Given the description of an element on the screen output the (x, y) to click on. 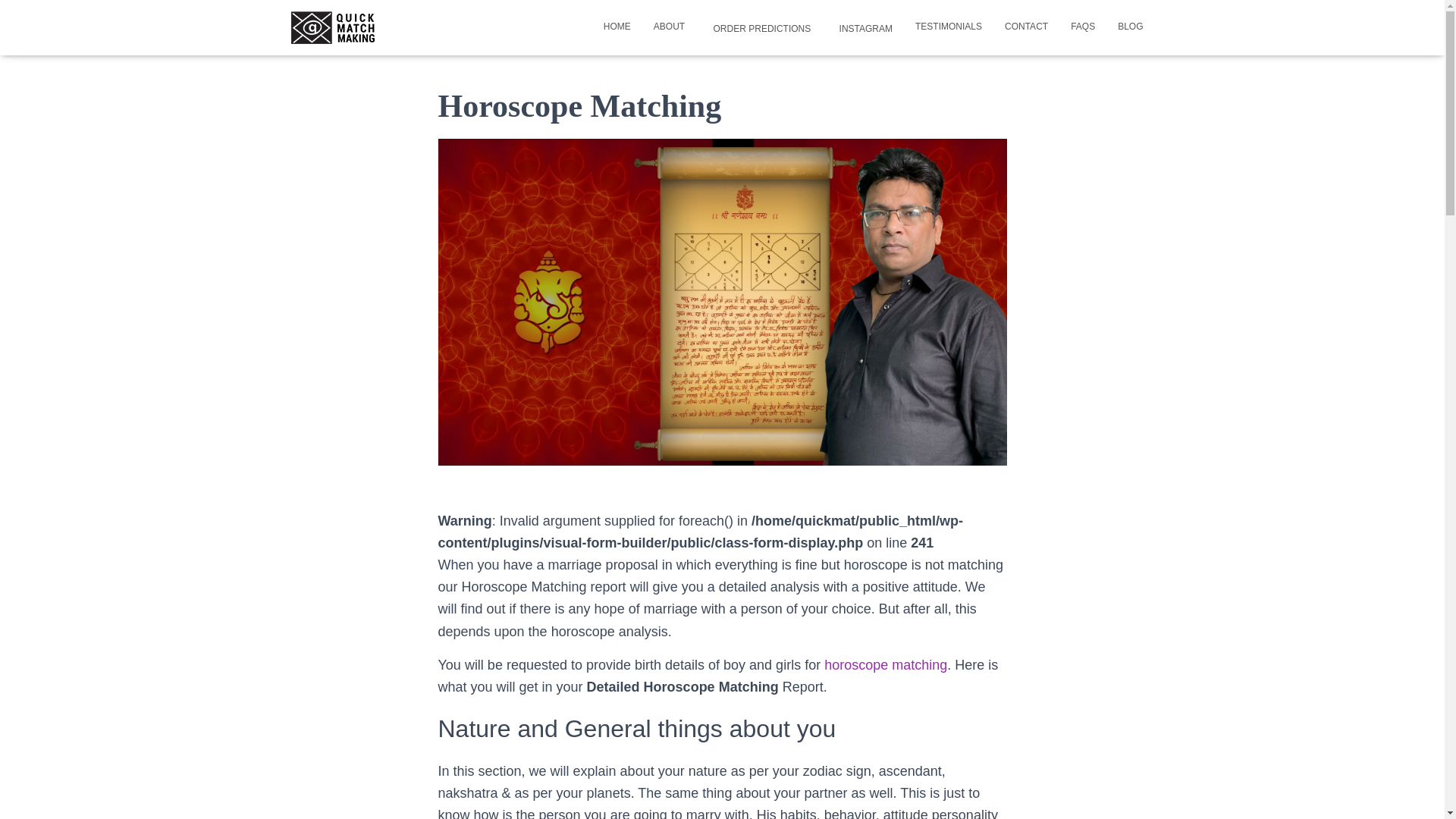
Order Predictions (758, 27)
TESTIMONIALS (948, 26)
FAQs (1082, 26)
Home (617, 26)
About (668, 26)
FAQS (1082, 26)
CONTACT (1025, 26)
 ORDER PREDICTIONS (758, 27)
horoscope matching (885, 664)
Blog (1130, 26)
 INSTAGRAM (863, 27)
Folllow Ashok Prajapati (863, 27)
HOME (617, 26)
ABOUT (668, 26)
Testimonials (948, 26)
